Given the description of an element on the screen output the (x, y) to click on. 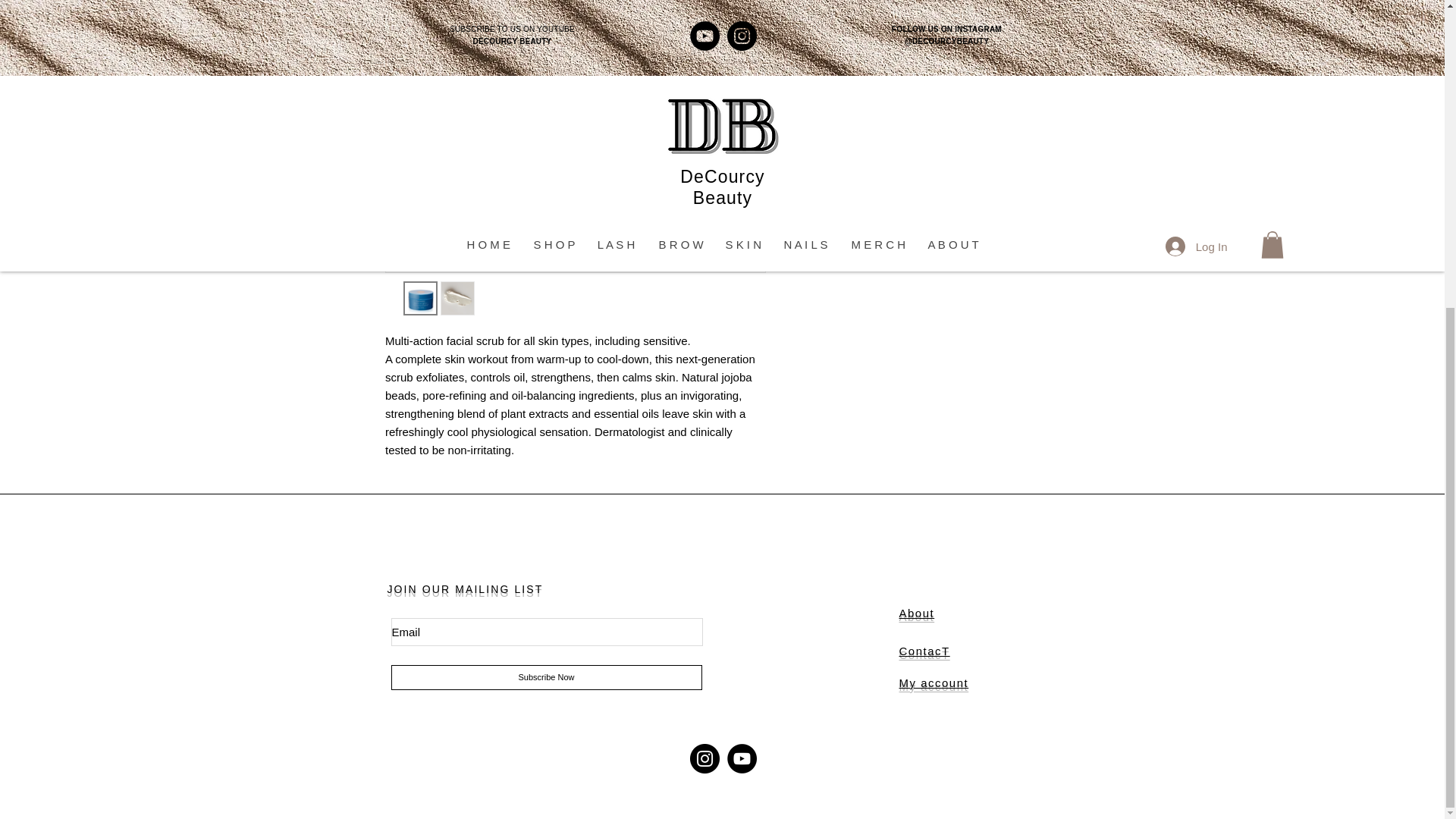
1 (819, 2)
Add to Cart (924, 44)
Subscribe Now (546, 677)
